Given the description of an element on the screen output the (x, y) to click on. 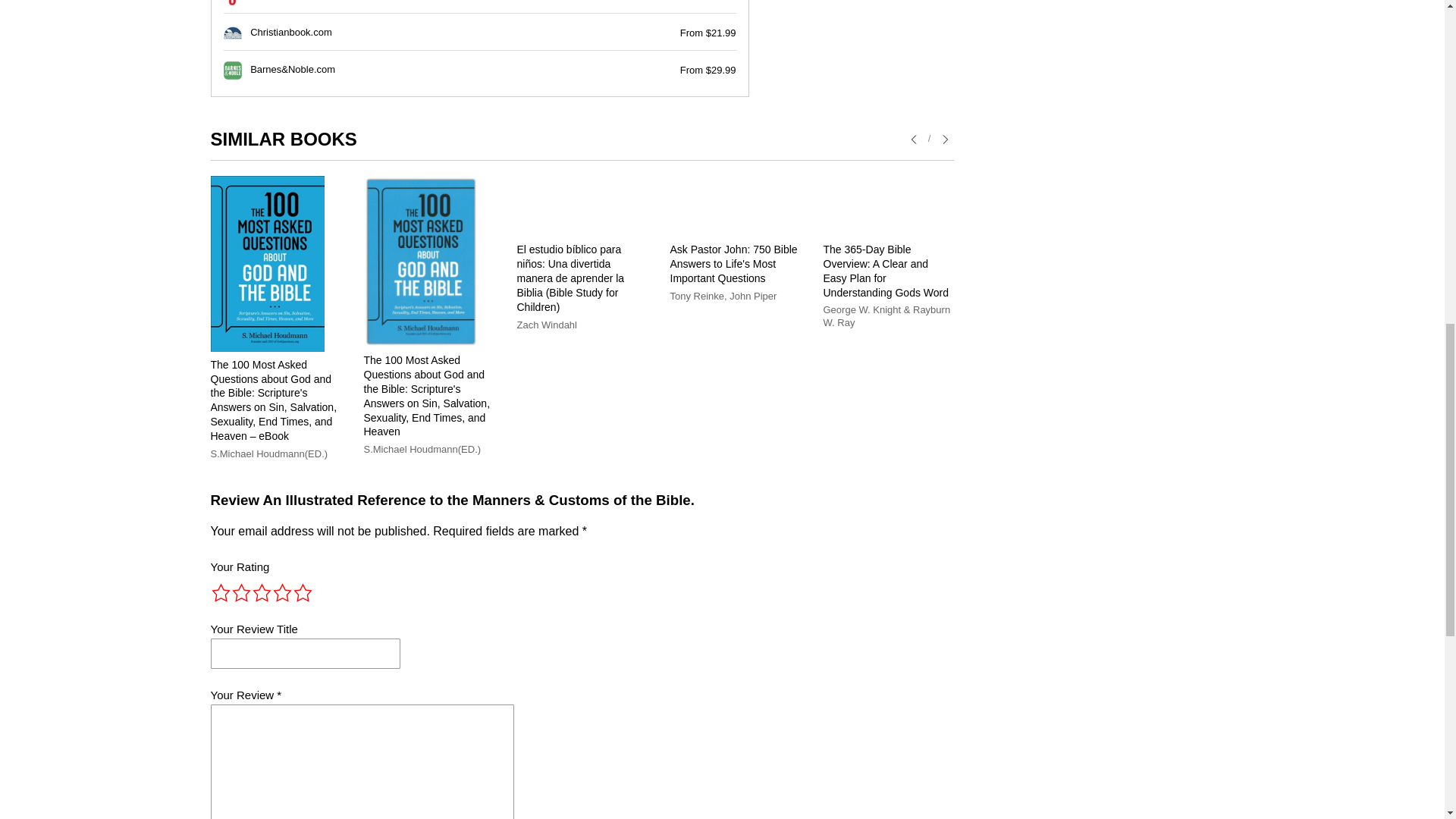
Christianbook.com (290, 31)
